Given the description of an element on the screen output the (x, y) to click on. 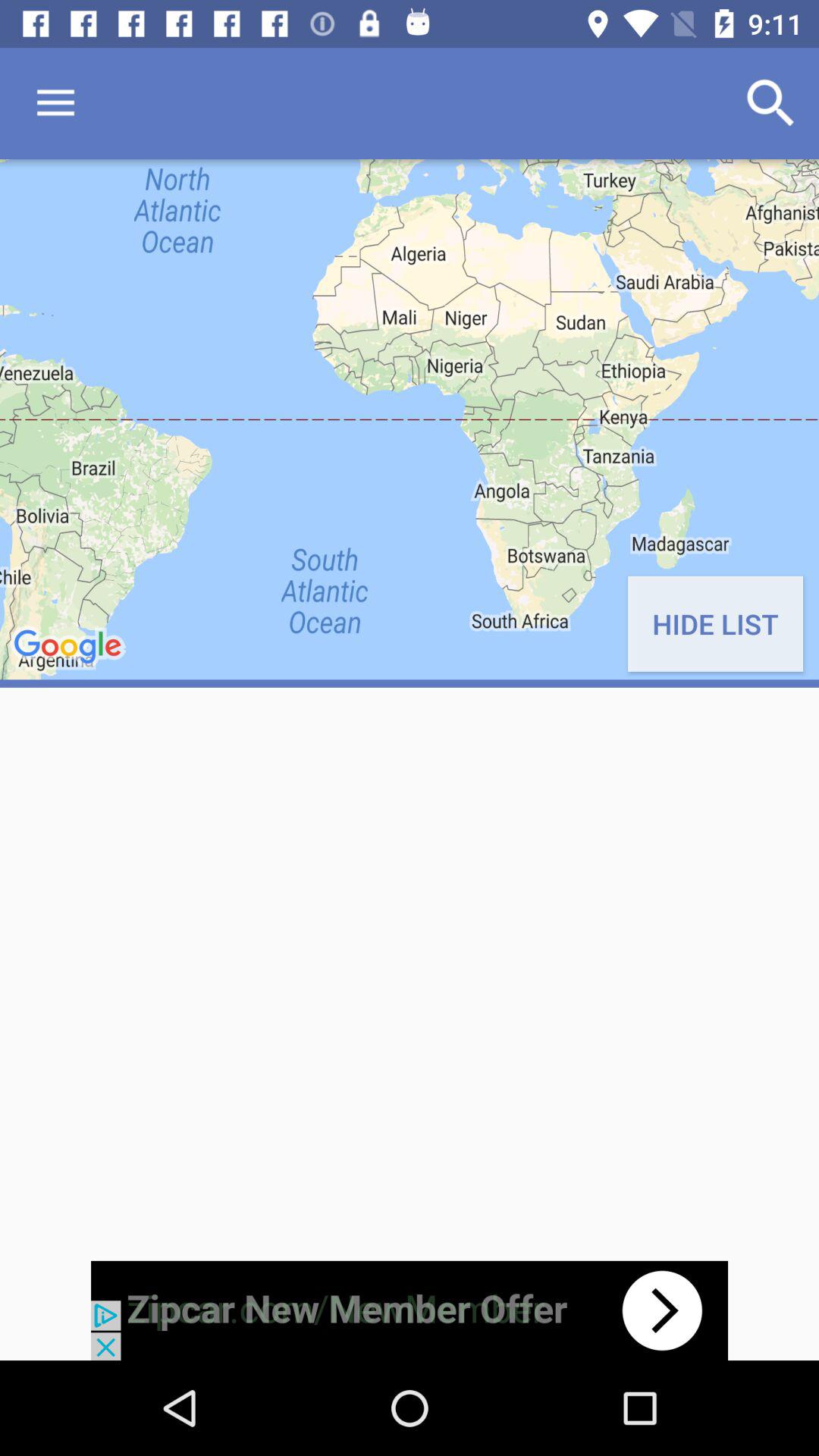
launch item at the top right corner (771, 103)
